Given the description of an element on the screen output the (x, y) to click on. 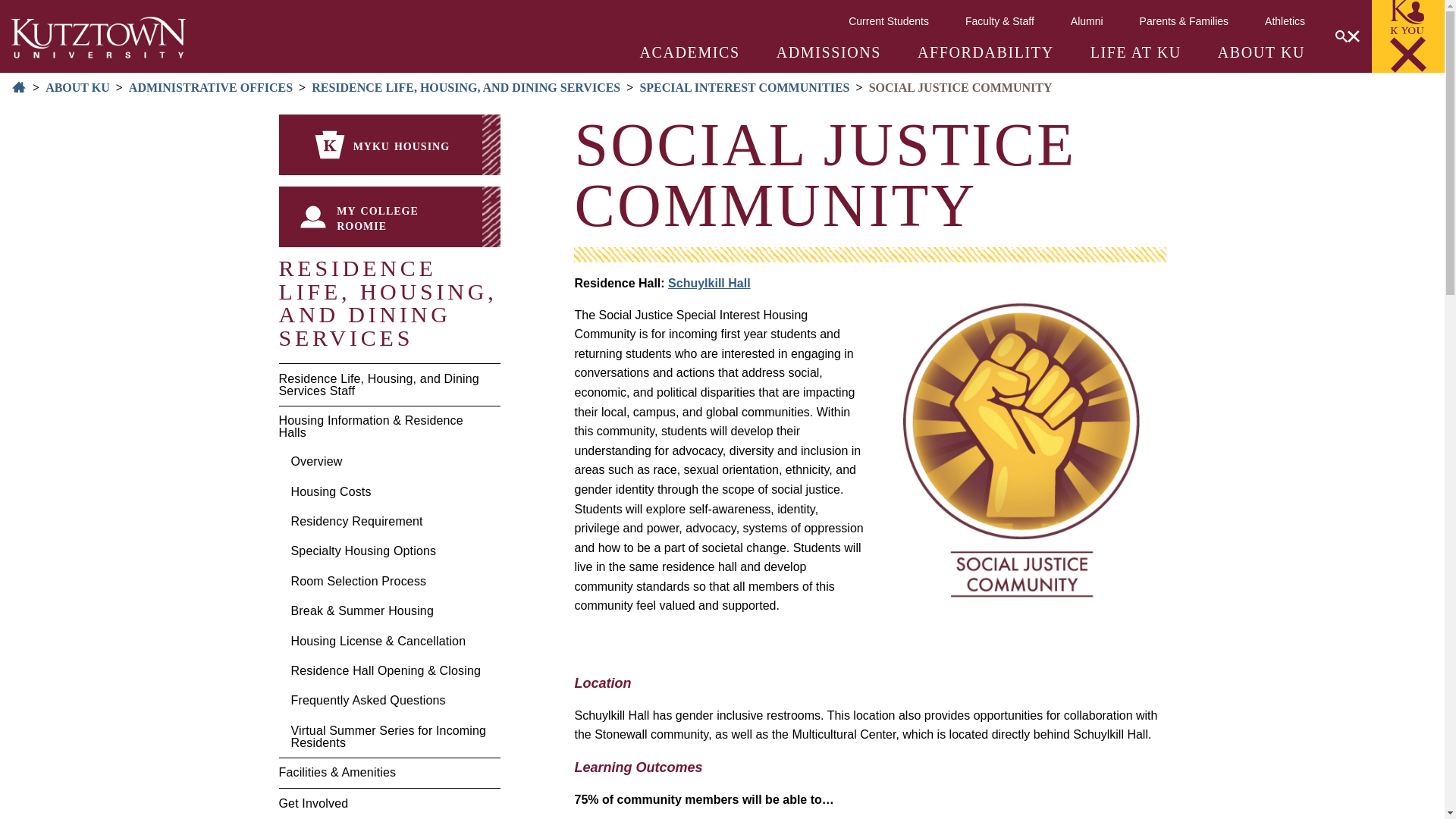
Current Students (888, 20)
Home (98, 37)
ADMISSIONS (828, 51)
Athletics (1284, 20)
Current Students (888, 20)
Alumni (1086, 20)
ACADEMICS (689, 51)
Alumni (1086, 20)
LIFE AT KU (1135, 51)
ABOUT KU (1260, 51)
Athletics (1284, 20)
AFFORDABILITY (985, 51)
